Given the description of an element on the screen output the (x, y) to click on. 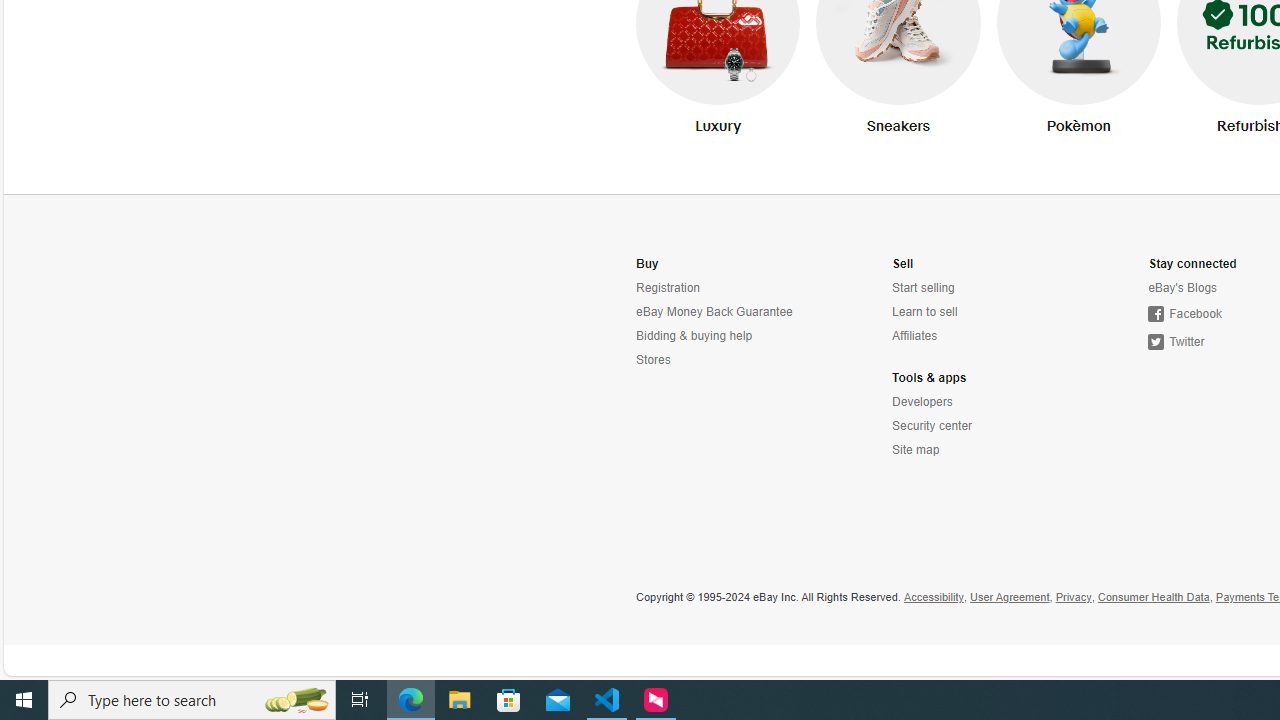
Learn to sell (924, 312)
Site map (981, 450)
Start selling (981, 288)
Security center (981, 425)
Facebook (1185, 314)
User Agreement (1009, 597)
Consumer Health Data (1152, 597)
Learn to sell (981, 312)
eBay Money Back Guarantee (714, 312)
Bidding & buying help (694, 335)
Affiliates (915, 335)
Affiliates (981, 335)
Security center (932, 425)
eBay's Blogs (1183, 288)
